Given the description of an element on the screen output the (x, y) to click on. 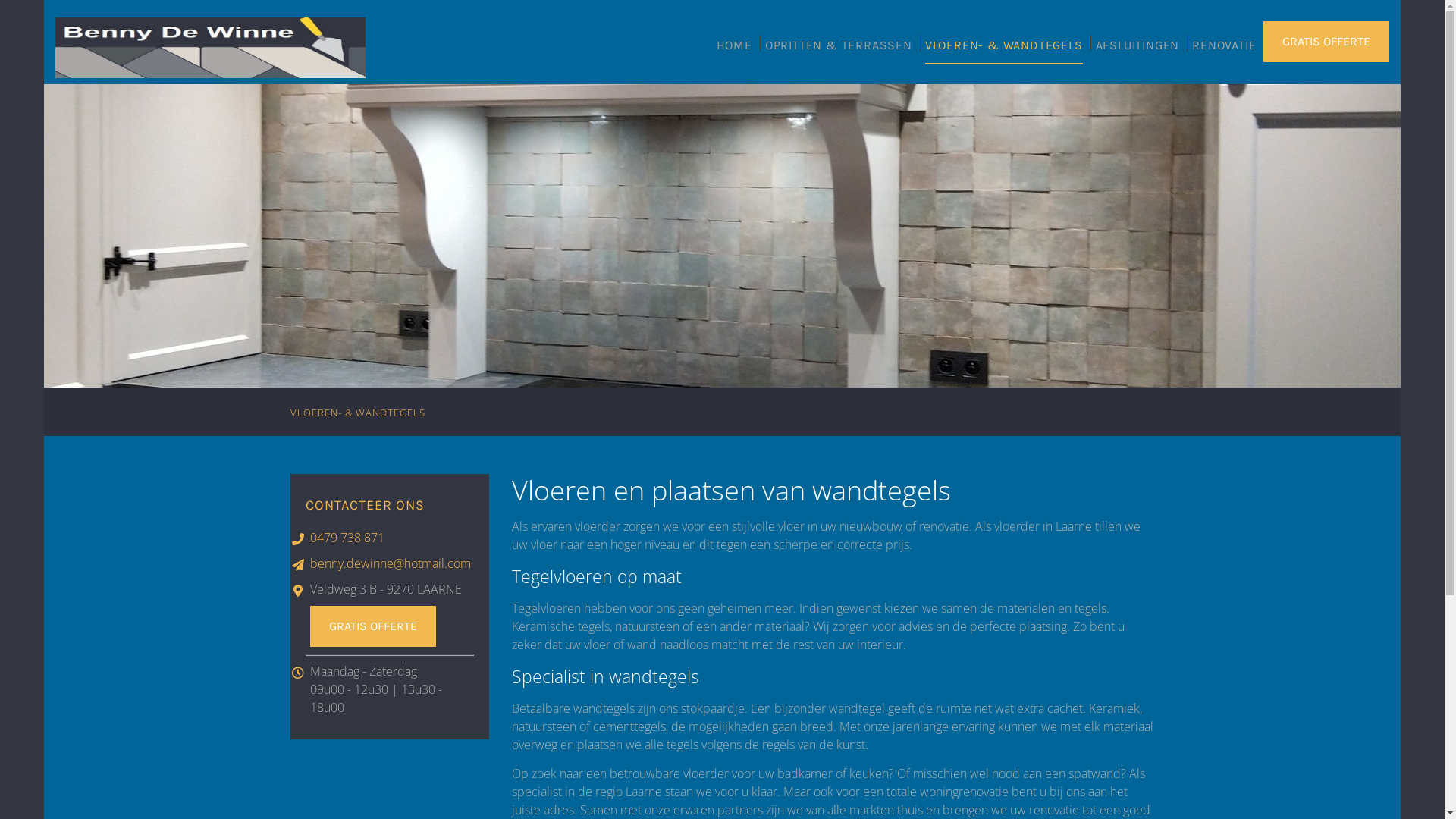
OPRITTEN & TERRASSEN Element type: text (838, 50)
RENOVATIE Element type: text (1223, 50)
AFSLUITINGEN Element type: text (1137, 50)
VLOEREN- & WANDTEGELS Element type: text (356, 412)
GRATIS OFFERTE Element type: text (372, 625)
VLOEREN- & WANDTEGELS Element type: text (1003, 50)
GRATIS OFFERTE Element type: text (1326, 41)
benny.dewinne@hotmail.com Element type: text (389, 563)
0479 738 871 Element type: text (391, 537)
HOME Element type: text (734, 50)
